Given the description of an element on the screen output the (x, y) to click on. 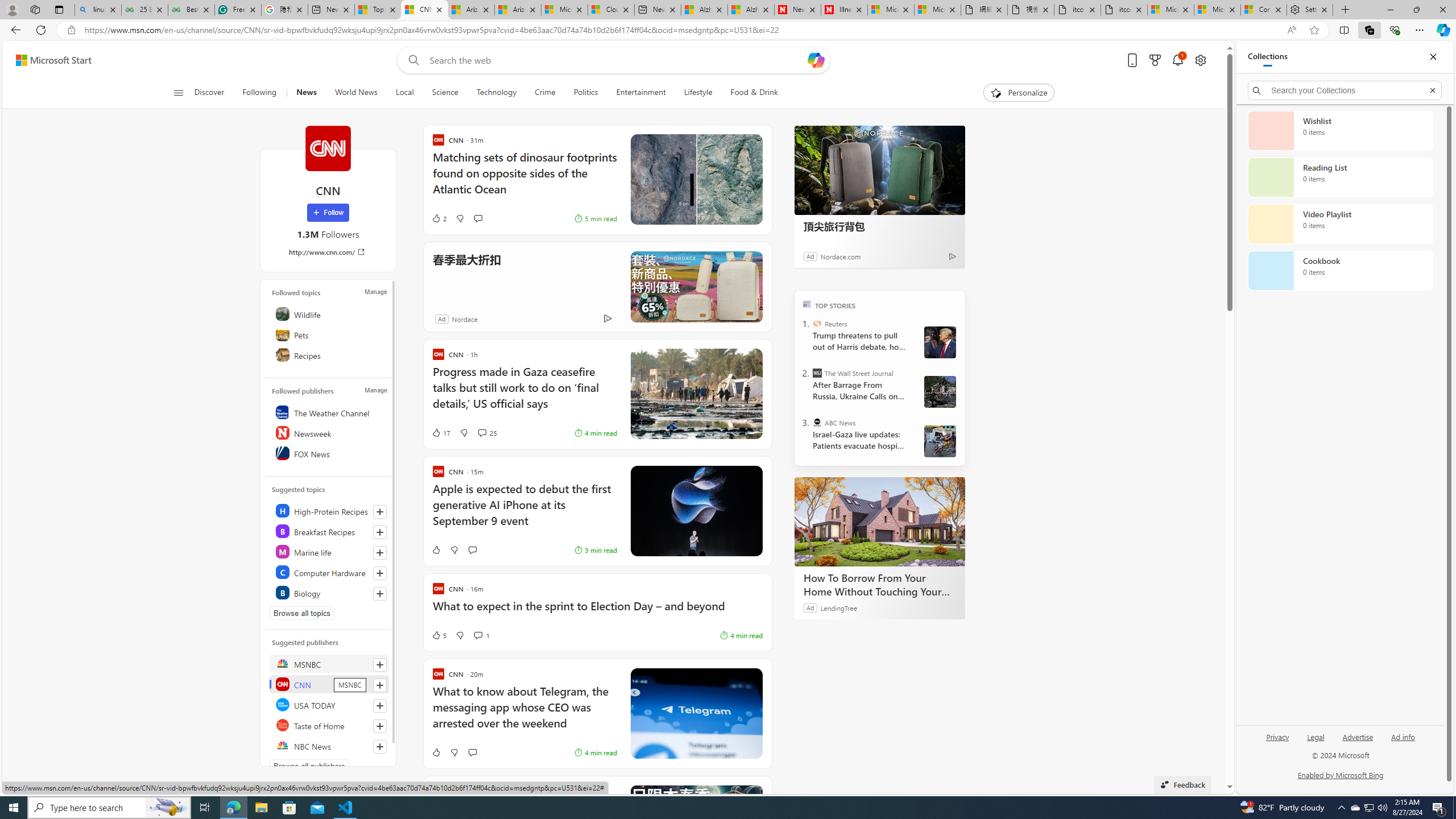
Follow this source (379, 746)
Pets (328, 334)
Follow this topic (379, 593)
